Given the description of an element on the screen output the (x, y) to click on. 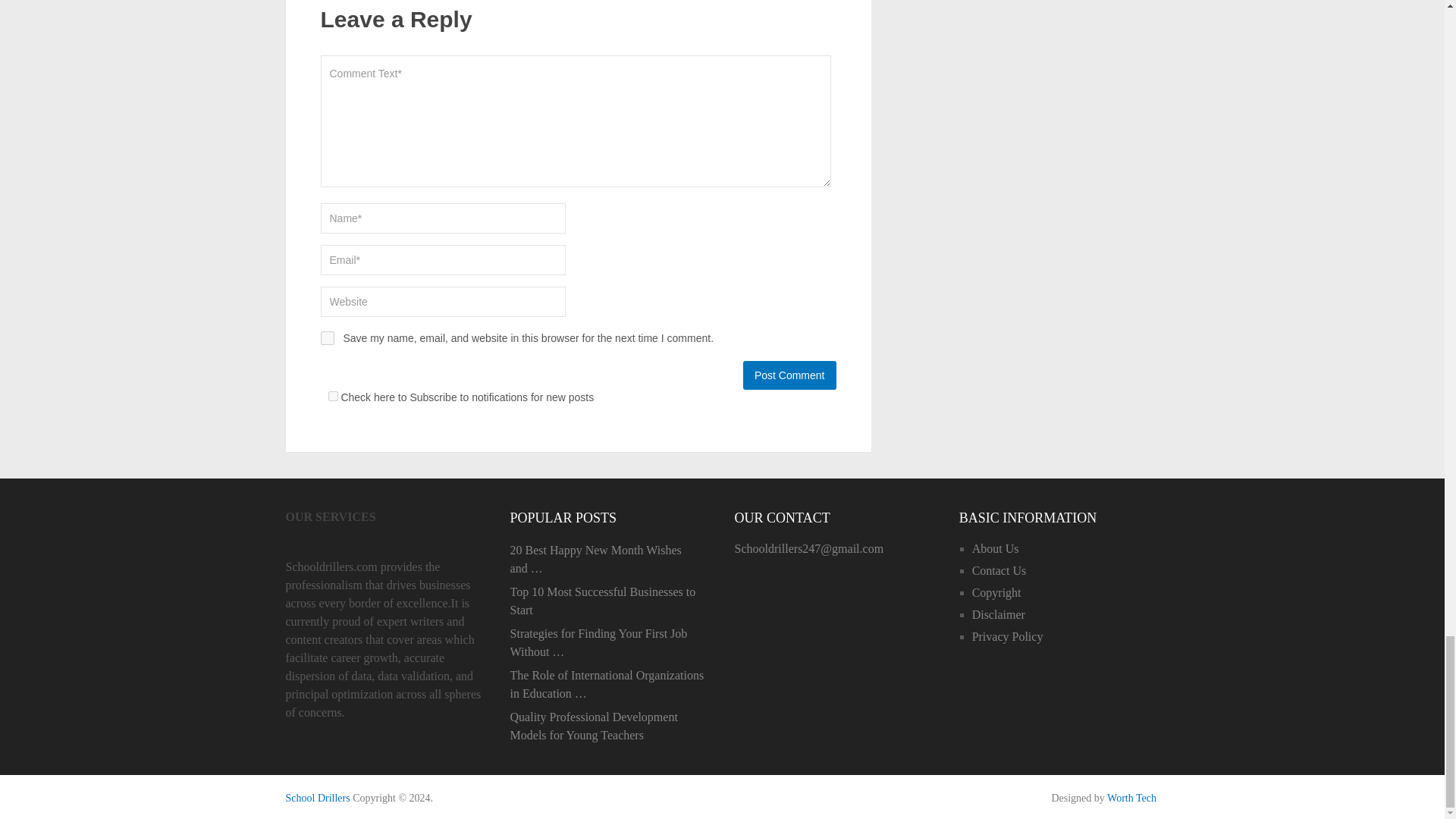
1 (332, 396)
Post Comment (788, 375)
yes (326, 337)
